Given the description of an element on the screen output the (x, y) to click on. 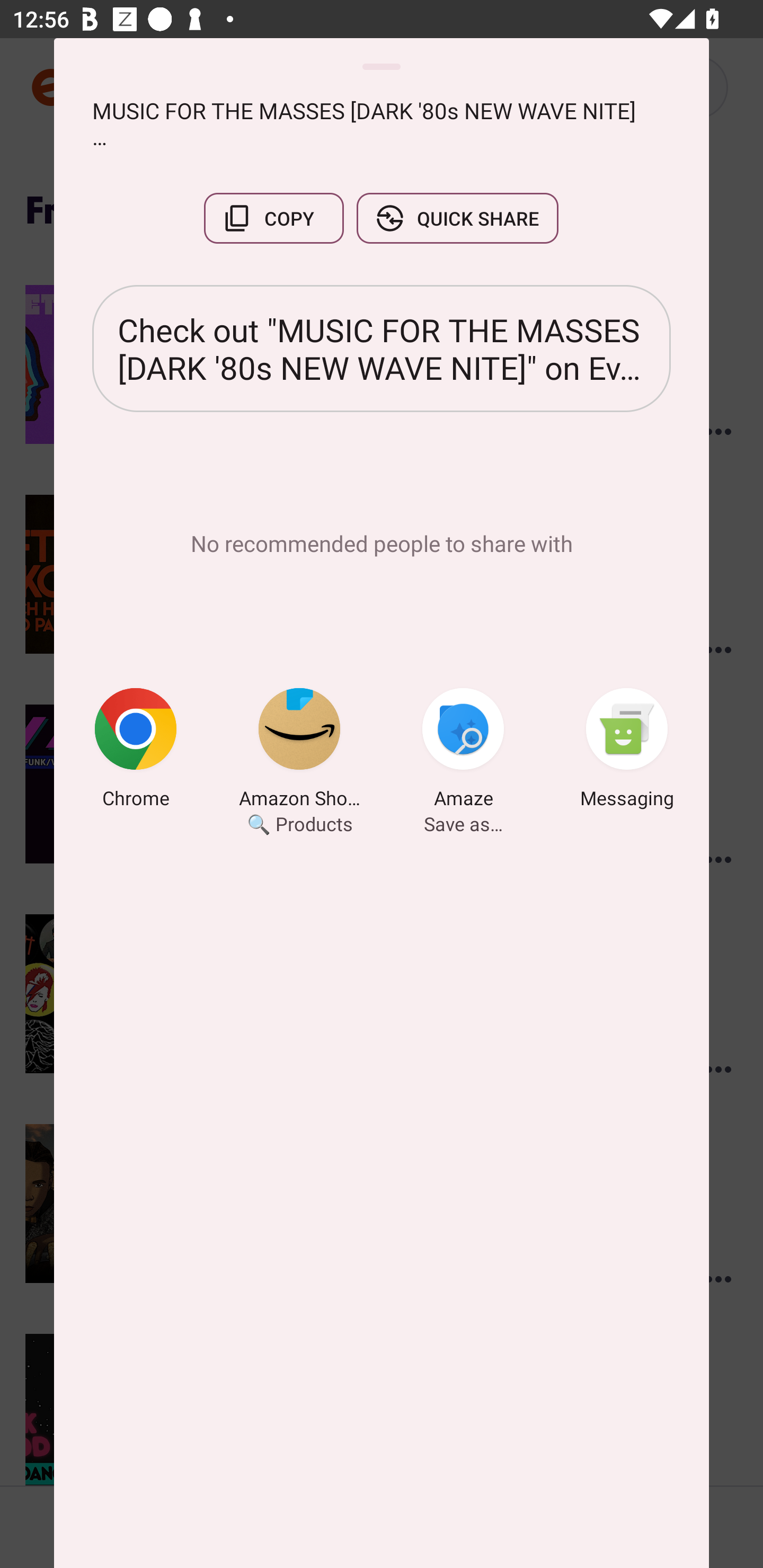
COPY (273, 218)
QUICK SHARE (457, 218)
Chrome (135, 751)
Amazon Shopping 🔍 Products (299, 751)
Amaze Save as… (463, 751)
Messaging (626, 751)
